Given the description of an element on the screen output the (x, y) to click on. 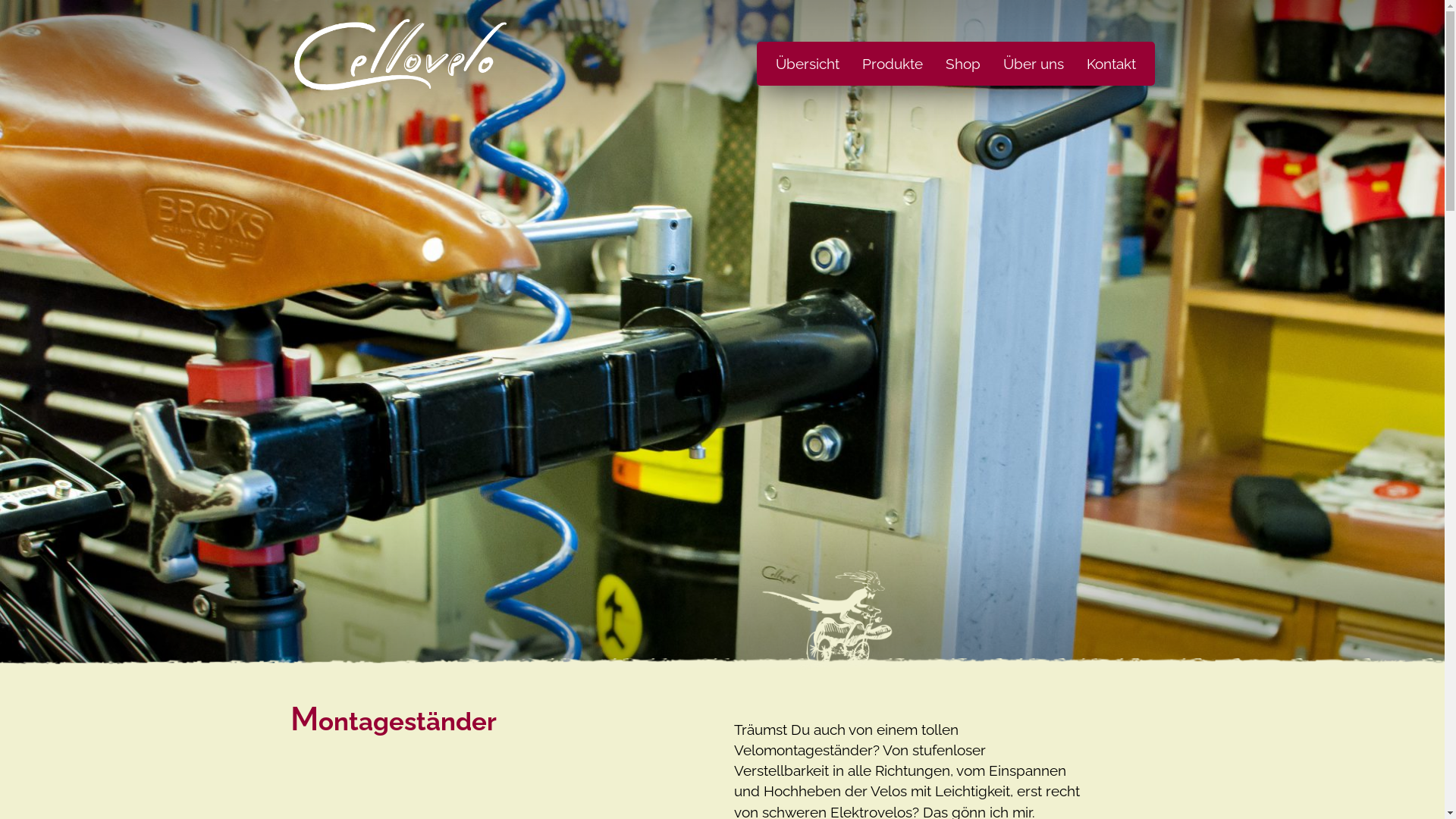
Shop Element type: text (962, 63)
Produkte Element type: text (892, 63)
Kontakt Element type: text (1114, 63)
